Given the description of an element on the screen output the (x, y) to click on. 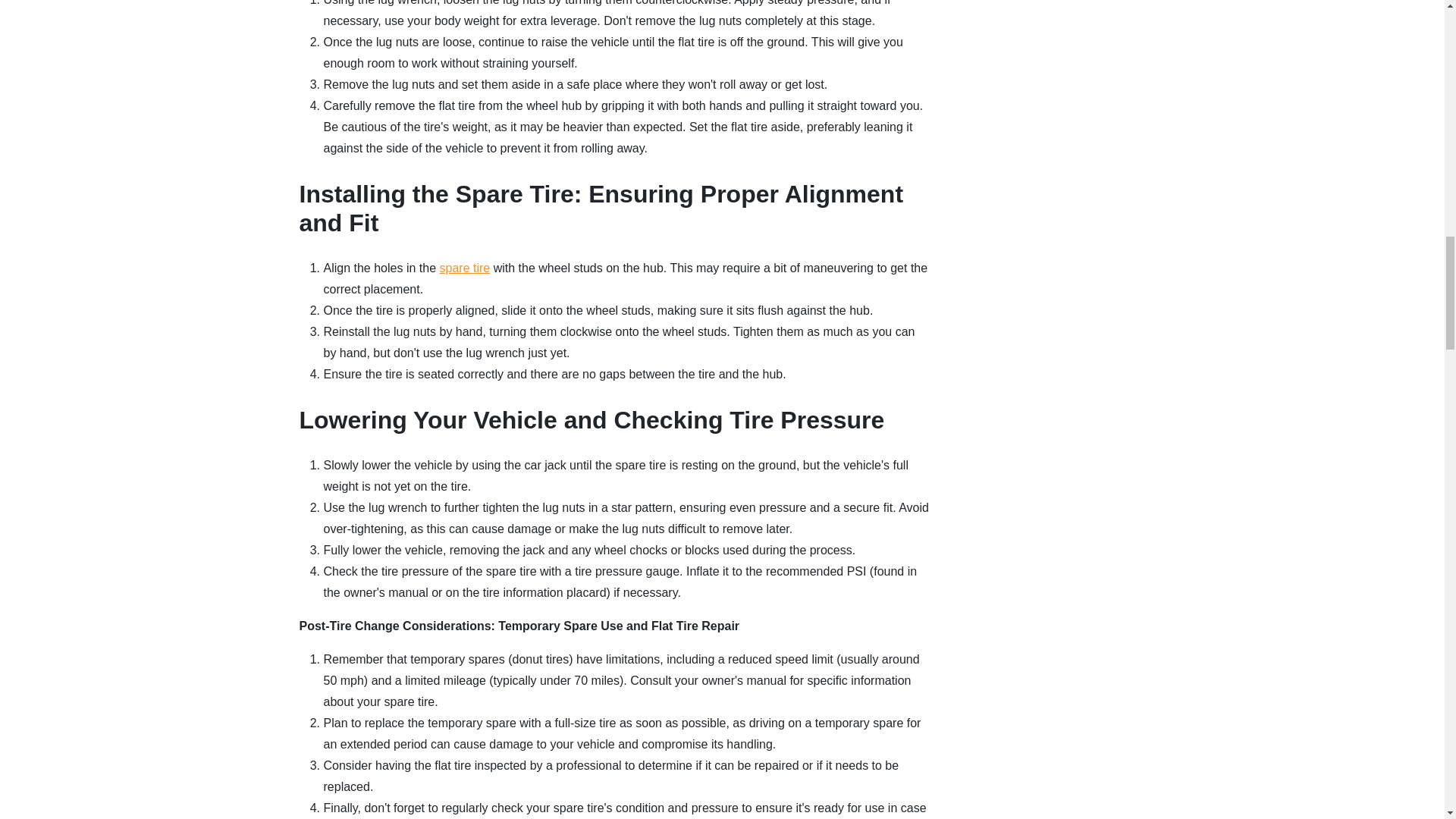
spare tire (464, 267)
